Given the description of an element on the screen output the (x, y) to click on. 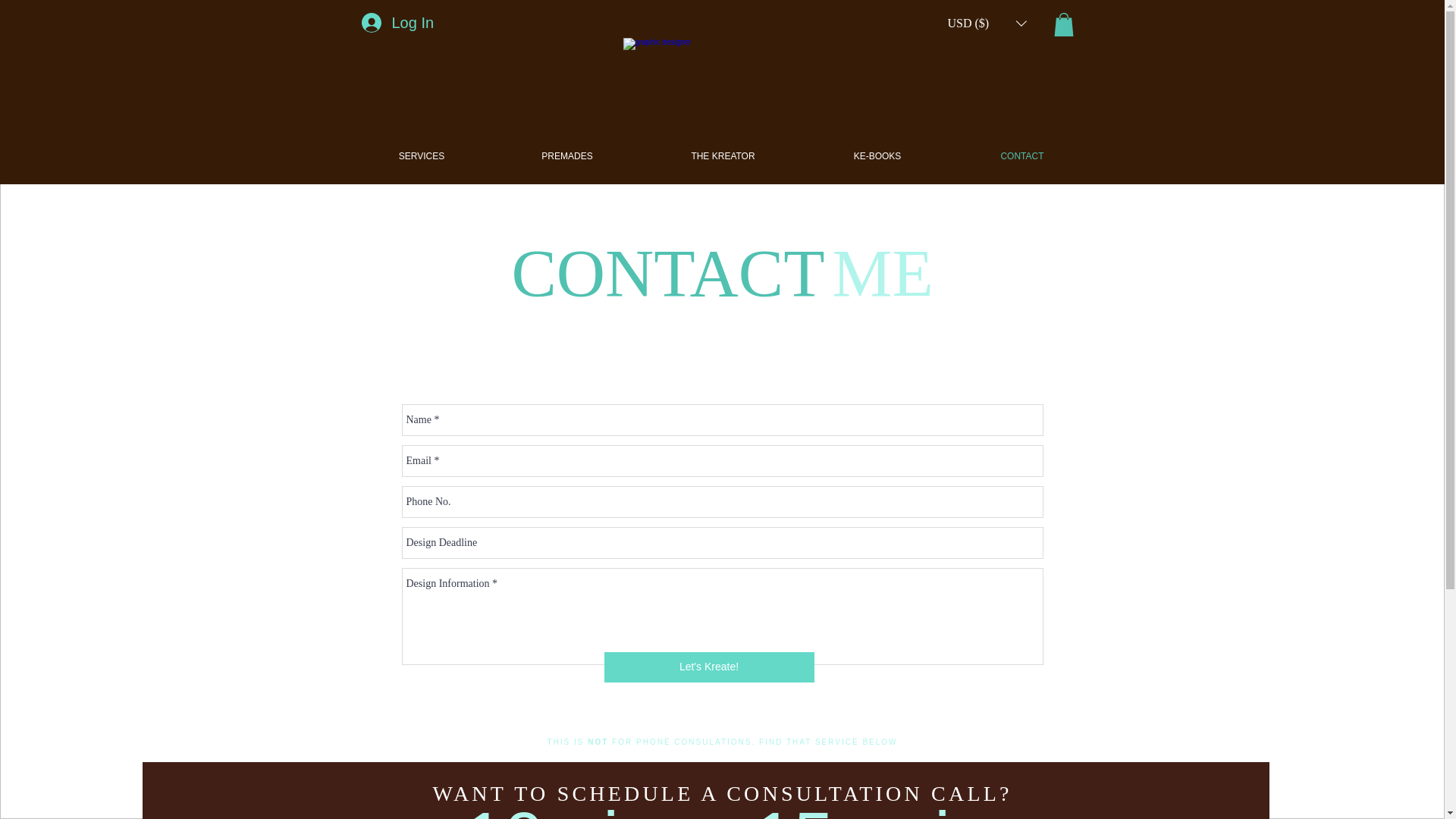
KE-BOOKS (876, 156)
Log In (395, 22)
CONTACT (1022, 156)
PREMADES (567, 156)
SERVICES (421, 156)
THE KREATOR (722, 156)
Let's Kreate! (708, 666)
